Given the description of an element on the screen output the (x, y) to click on. 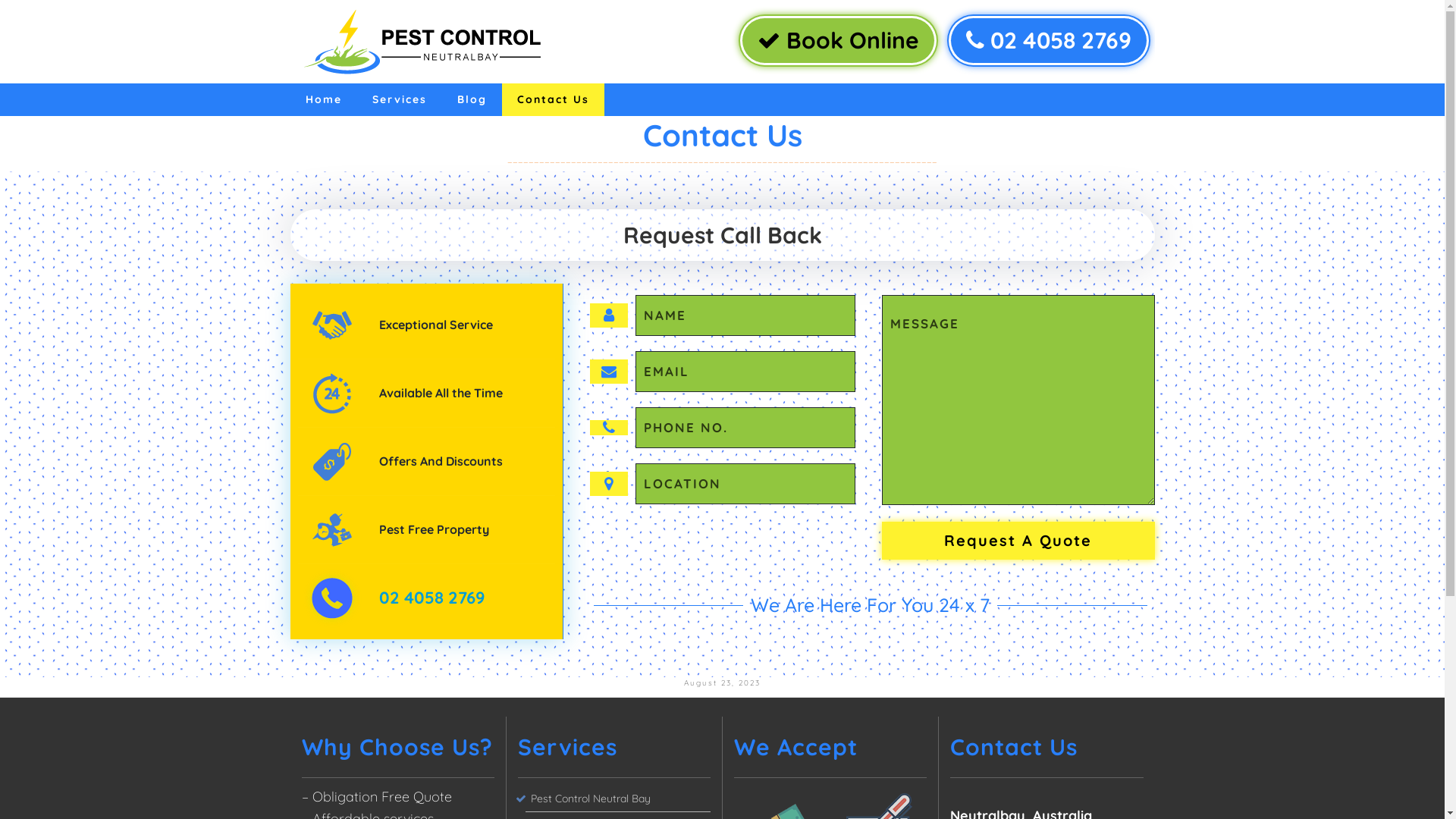
Request A Quote Element type: text (1017, 540)
Home Element type: text (322, 99)
02 4058 2769 Element type: text (432, 597)
Contact Us Element type: text (553, 99)
Blog Element type: text (471, 99)
02 4058 2769 Element type: text (1047, 40)
Pest Control Neutral Bay Element type: text (616, 798)
Book Online Element type: text (838, 40)
Services Element type: text (398, 99)
